Given the description of an element on the screen output the (x, y) to click on. 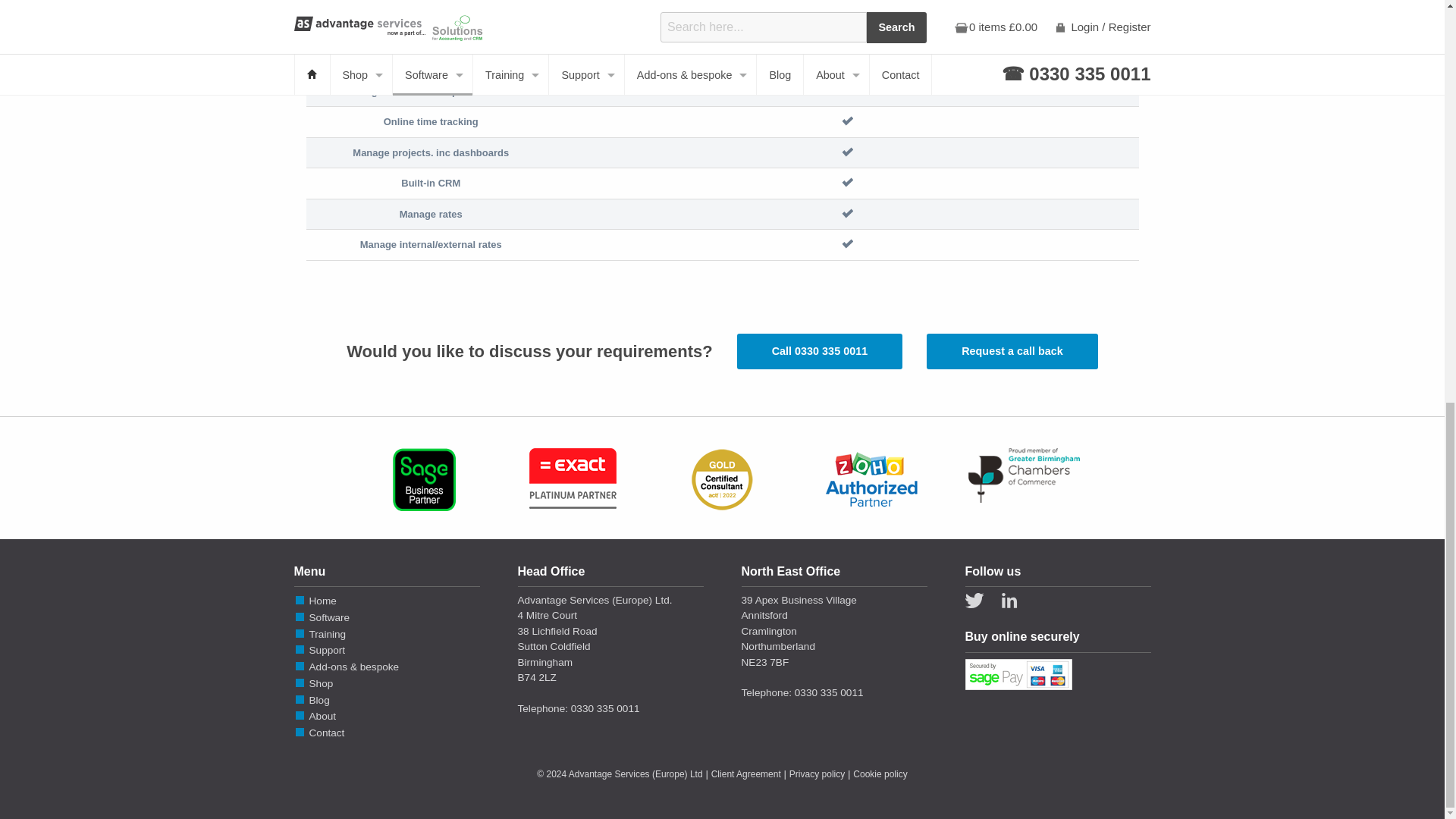
Created with Sketch. (973, 600)
Created with Sketch. (1009, 600)
